Given the description of an element on the screen output the (x, y) to click on. 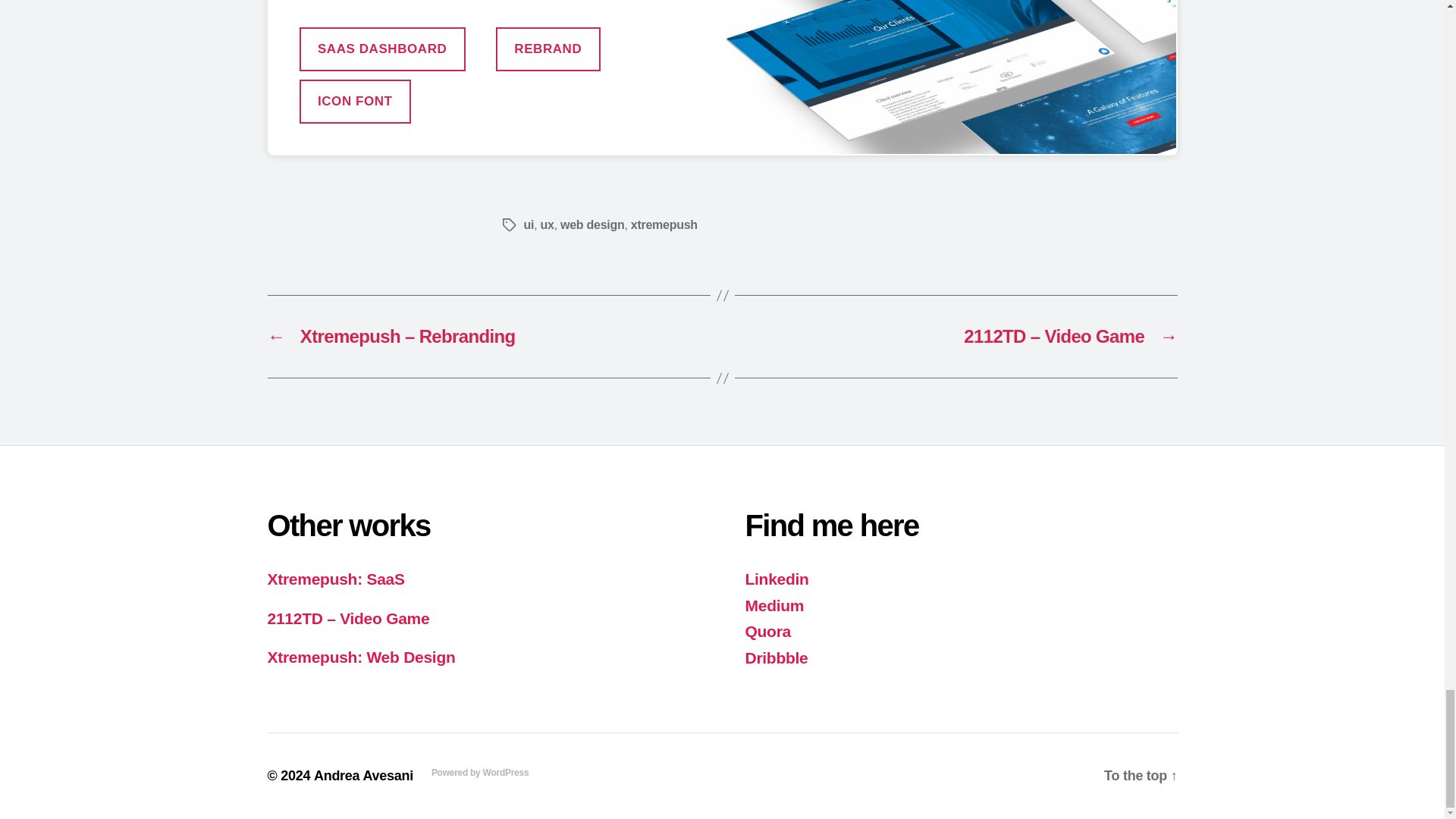
ux (547, 224)
ICON FONT (354, 101)
SAAS DASHBOARD (381, 49)
Powered by WordPress (479, 772)
ui (528, 224)
Dribbble (776, 657)
Xtremepush: Web Design (360, 656)
Medium (773, 605)
web design (592, 224)
Linkedin (776, 579)
Quora (767, 630)
xtremepush (663, 224)
REBRAND (547, 49)
Andrea Avesani (363, 775)
Xtremepush: SaaS (335, 579)
